Given the description of an element on the screen output the (x, y) to click on. 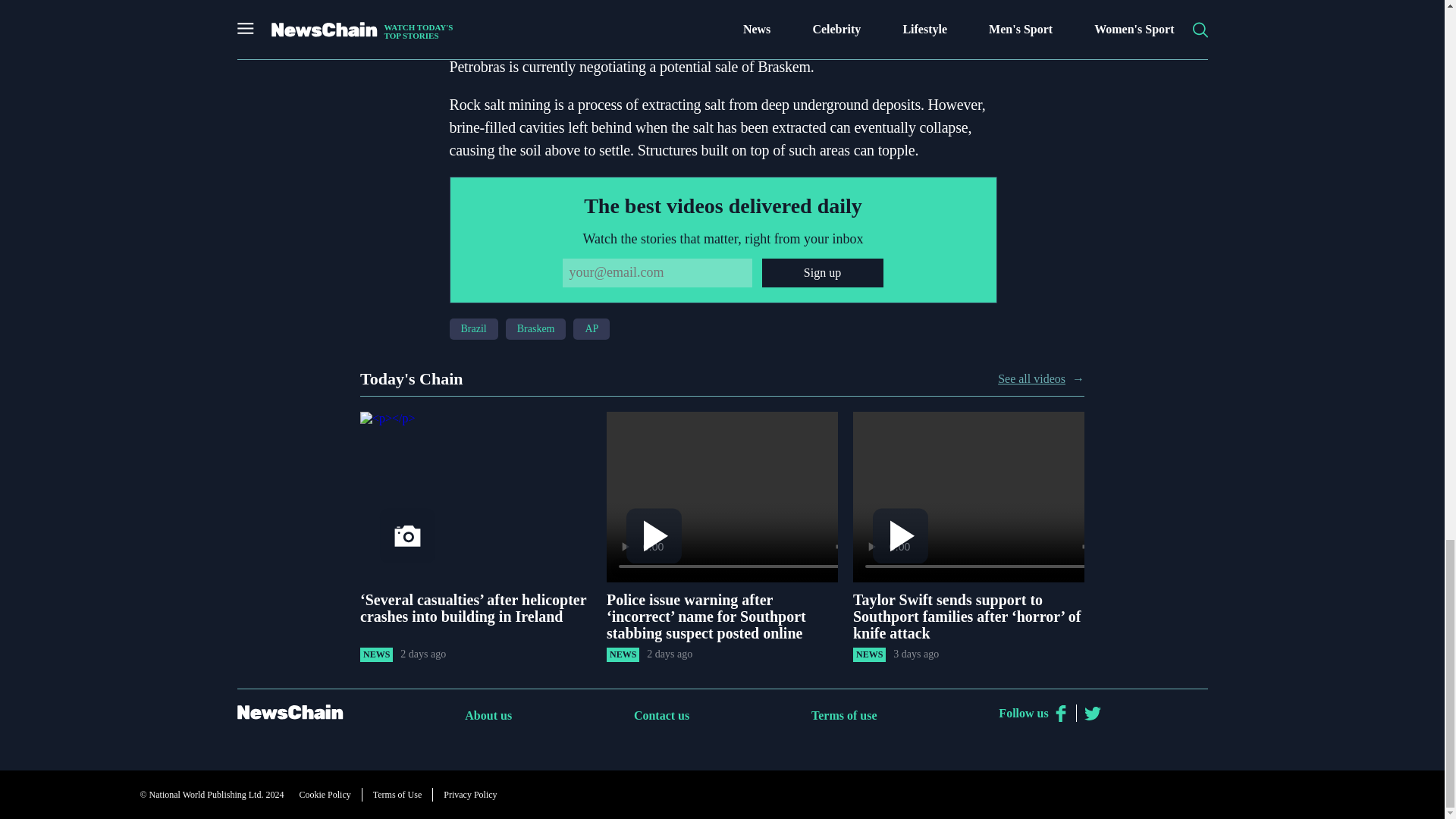
Braskem (535, 328)
About us (488, 715)
NEWS (869, 654)
Contact us (660, 715)
NEWS (623, 654)
Sign up (822, 272)
See all videos (1031, 378)
NEWS (376, 654)
Brazil (472, 328)
AP (591, 328)
Terms of use (843, 715)
Sign up (822, 272)
